Given the description of an element on the screen output the (x, y) to click on. 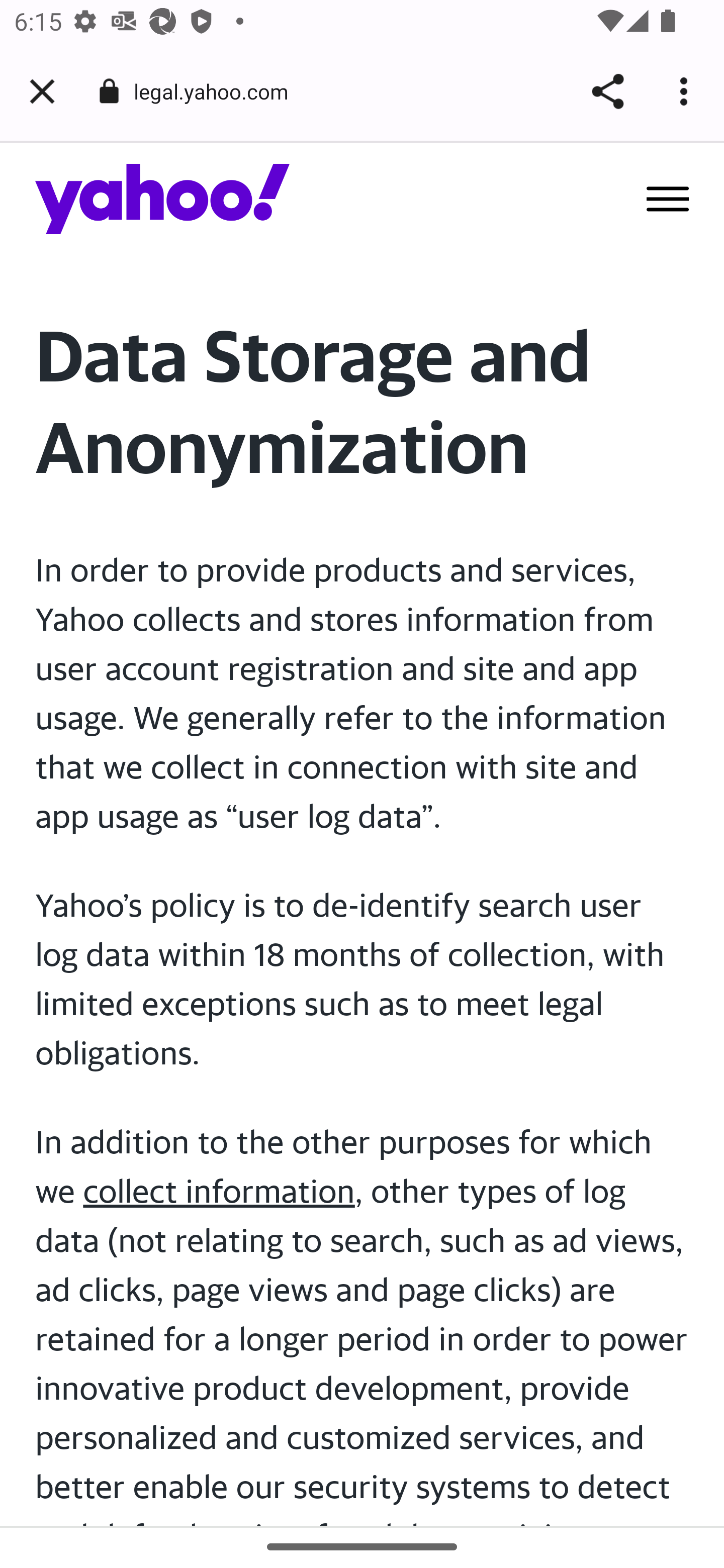
Close tab (42, 91)
Share (607, 91)
More options (687, 91)
Connection is secure (108, 91)
legal.yahoo.com (217, 90)
Yahoo logo (162, 198)
collect information (218, 1190)
